Given the description of an element on the screen output the (x, y) to click on. 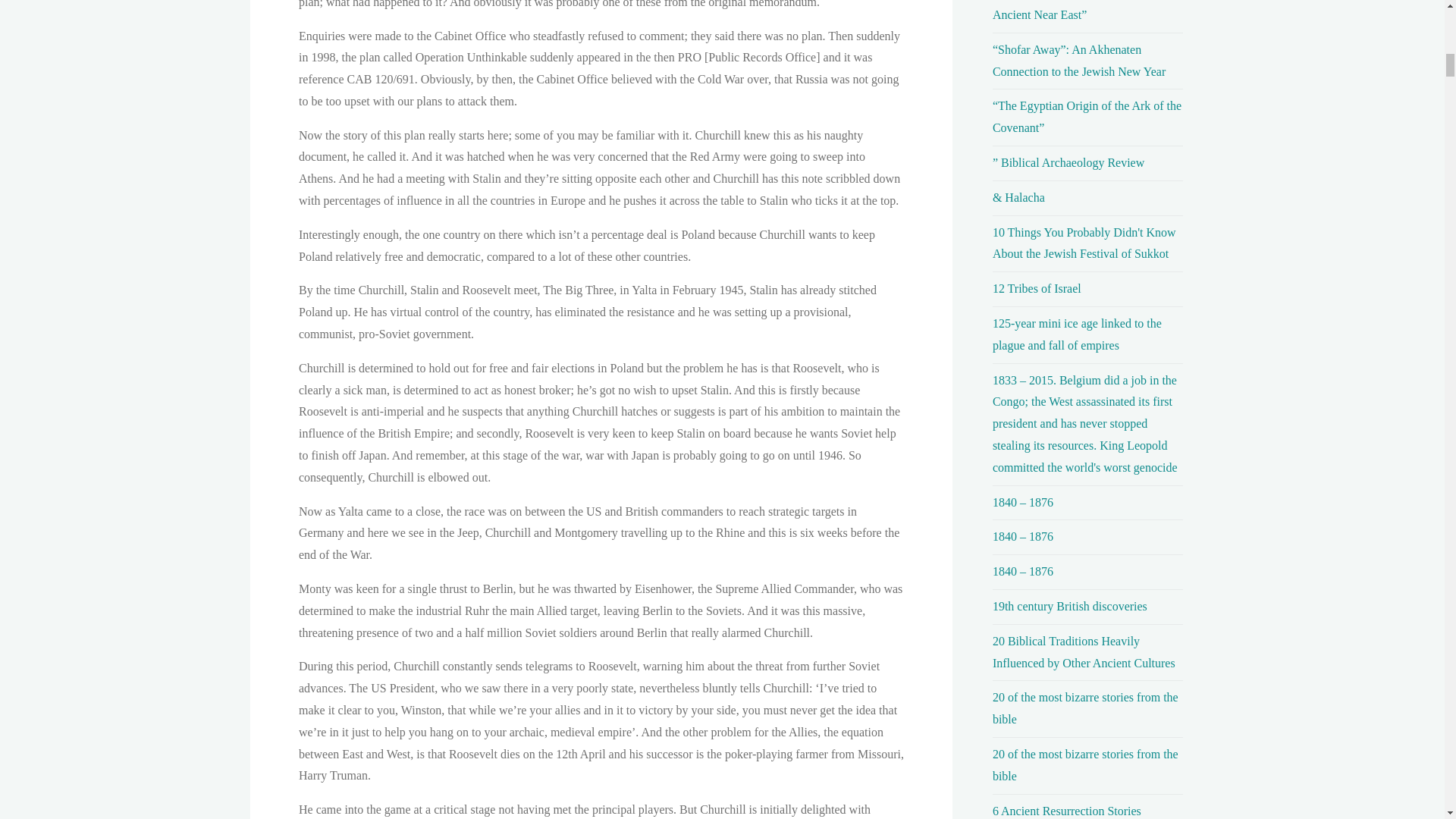
19th century British discoveries (1069, 605)
12 Tribes of Israel (1036, 287)
